Given the description of an element on the screen output the (x, y) to click on. 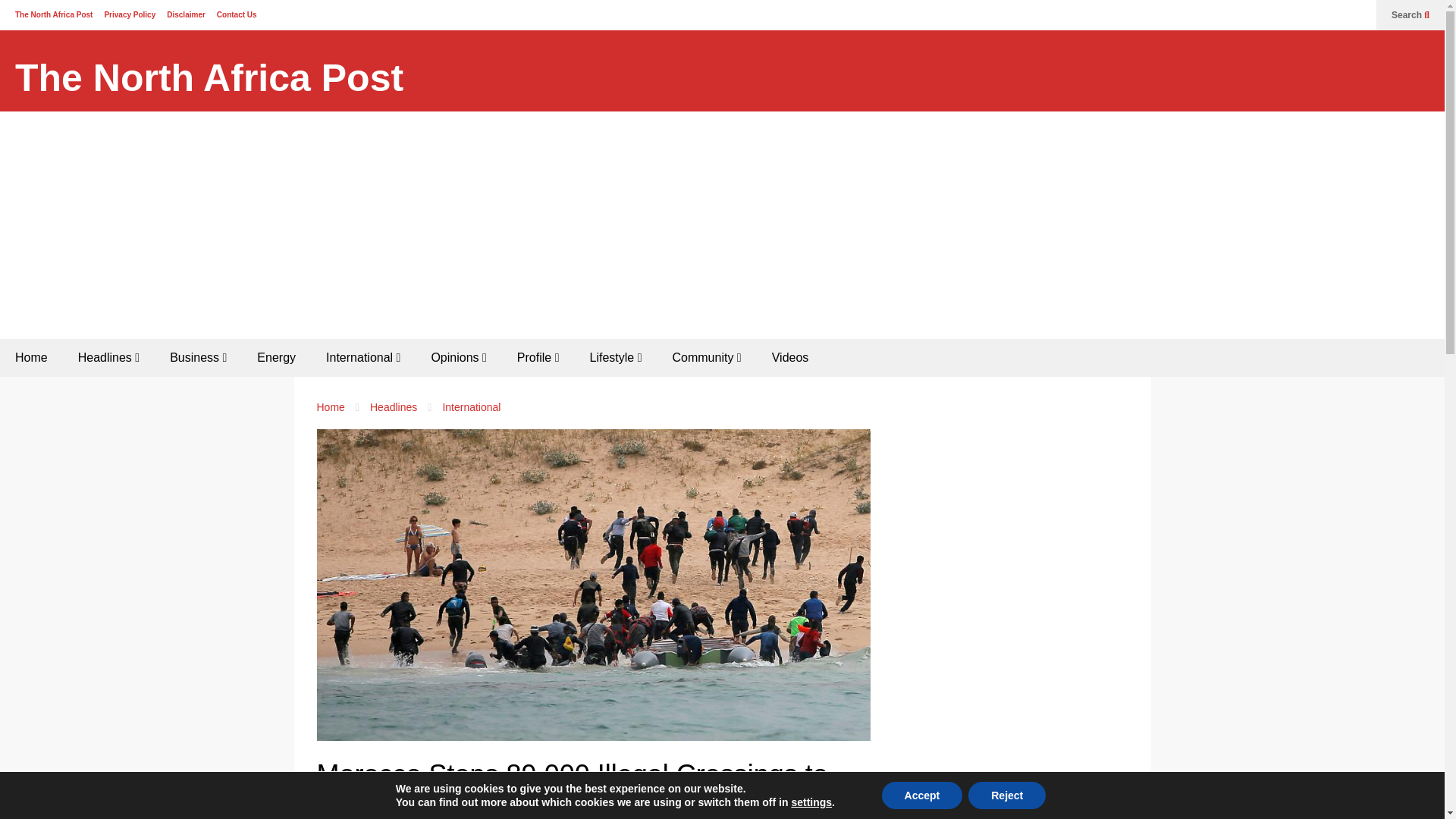
The North Africa Post (208, 78)
Home (31, 357)
International (362, 357)
Energy (276, 357)
Lifestyle (616, 357)
Disclaimer (186, 14)
Profile (538, 357)
Headlines (108, 357)
The North Africa Post (208, 78)
Search (1410, 15)
Privacy Policy (129, 14)
Community (705, 357)
Videos (790, 357)
Opinions (457, 357)
